Given the description of an element on the screen output the (x, y) to click on. 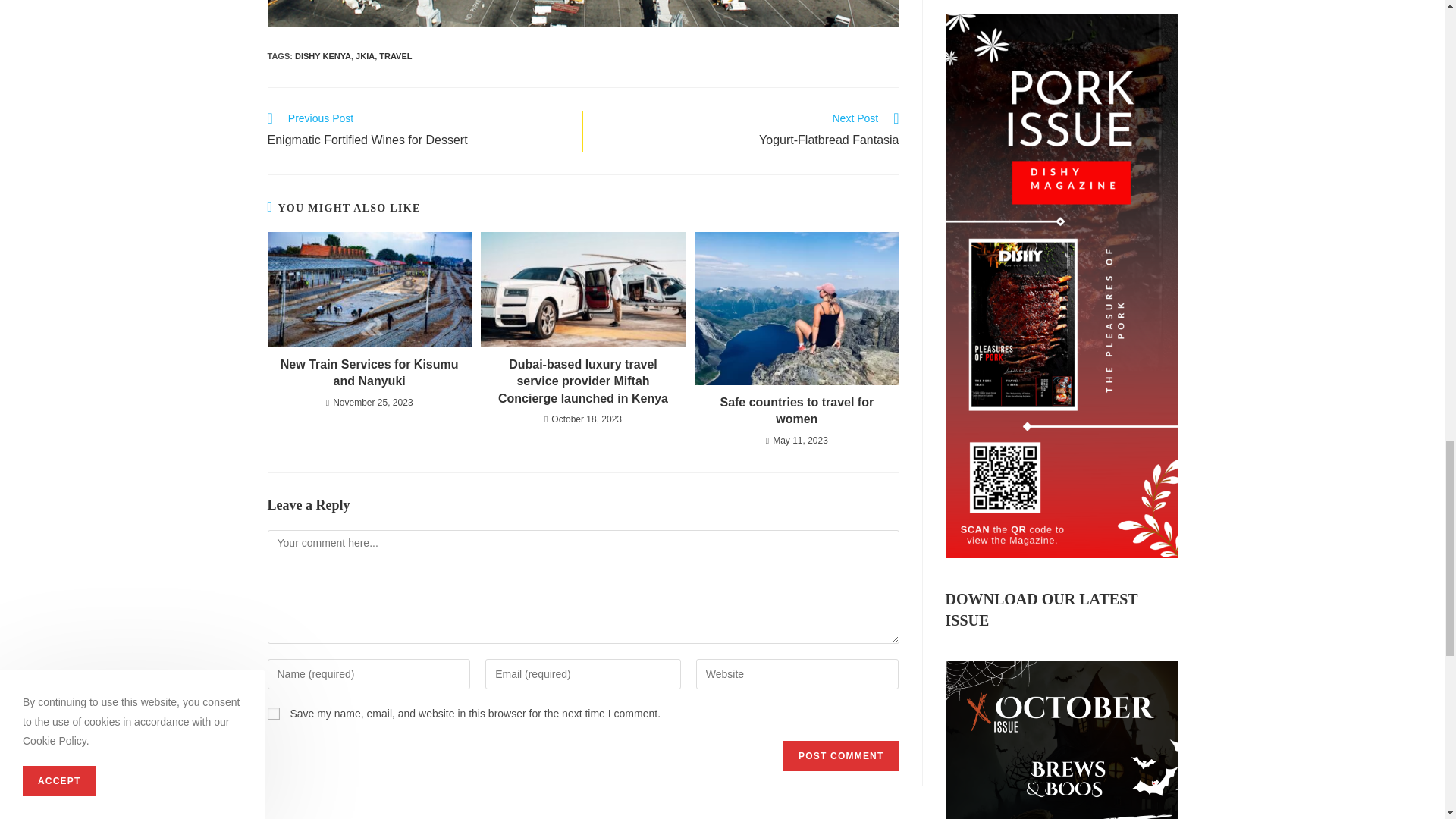
yes (272, 713)
TRAVEL (395, 55)
Post Comment (840, 756)
Safe countries to travel for women (796, 410)
JKIA (364, 55)
New Train Services for Kisumu and Nanyuki (368, 373)
DISHY KENYA (416, 130)
Post Comment (322, 55)
